Given the description of an element on the screen output the (x, y) to click on. 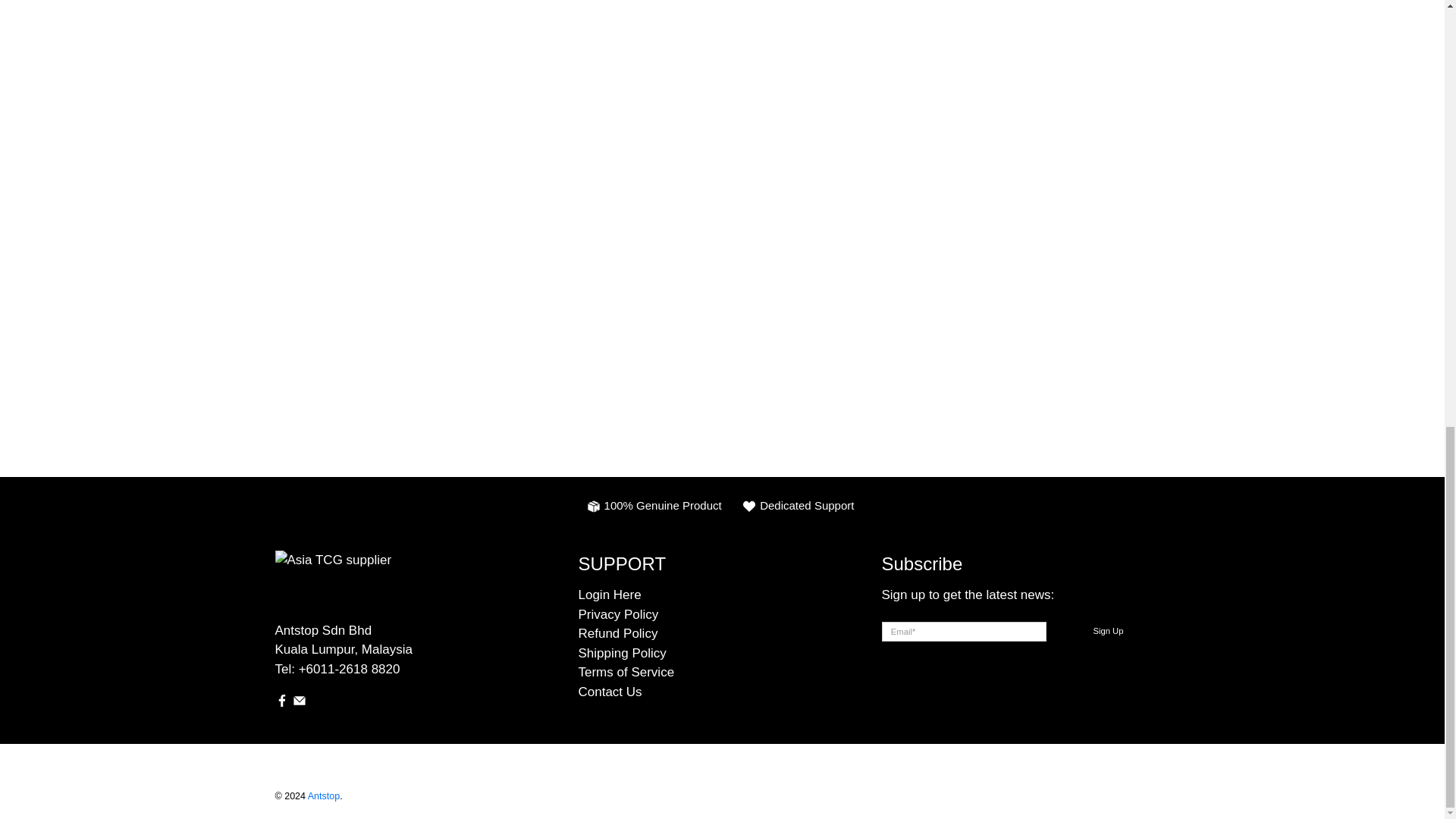
Antstop (390, 585)
Email Antstop (298, 703)
Antstop on Facebook (281, 703)
